Given the description of an element on the screen output the (x, y) to click on. 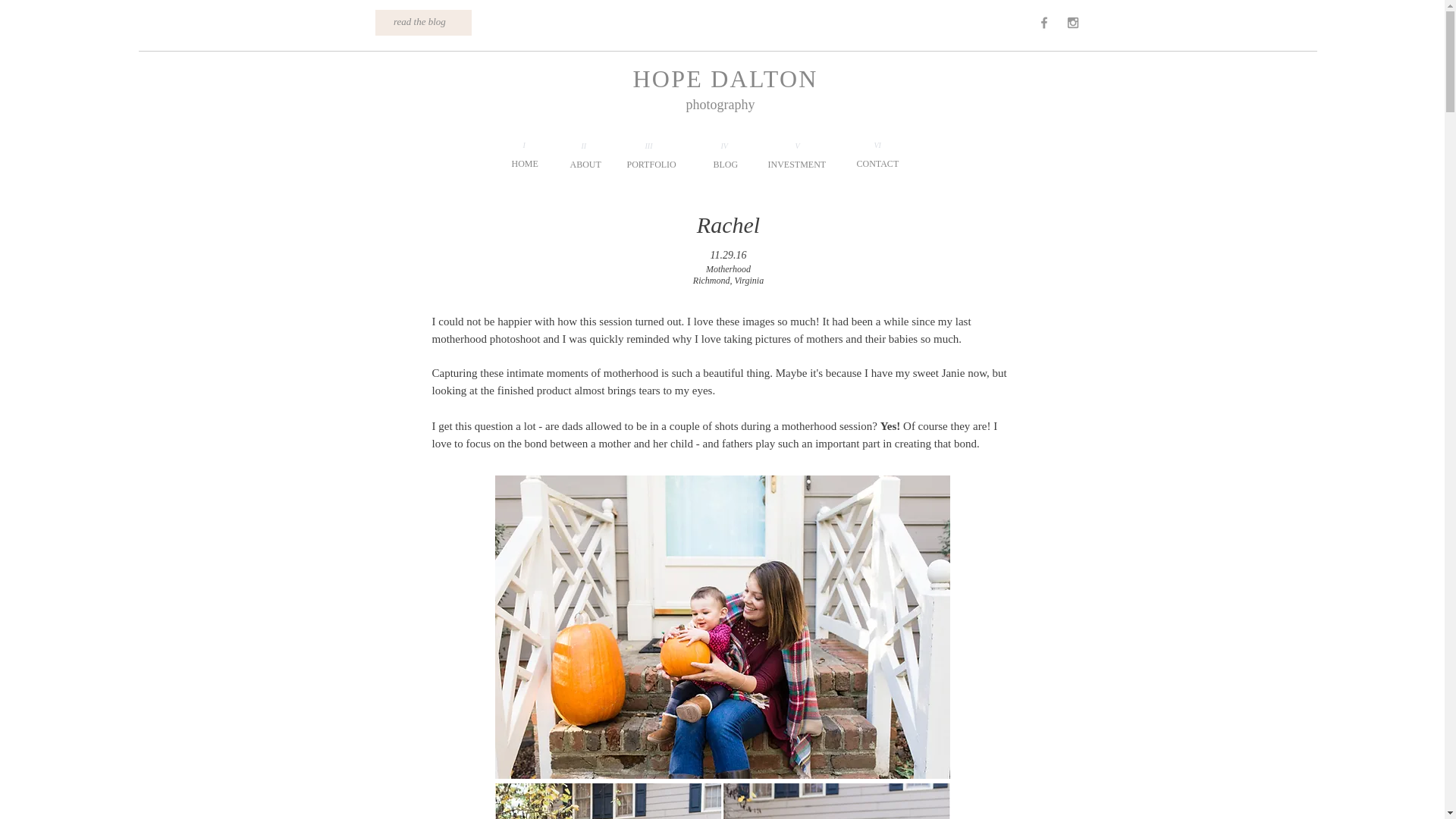
PORTFOLIO (650, 163)
CONTACT (878, 163)
ABOUT (585, 163)
photography (719, 104)
HOME (524, 163)
BLOG (725, 163)
HOPE DALTON (723, 78)
  read the blog (416, 21)
